Given the description of an element on the screen output the (x, y) to click on. 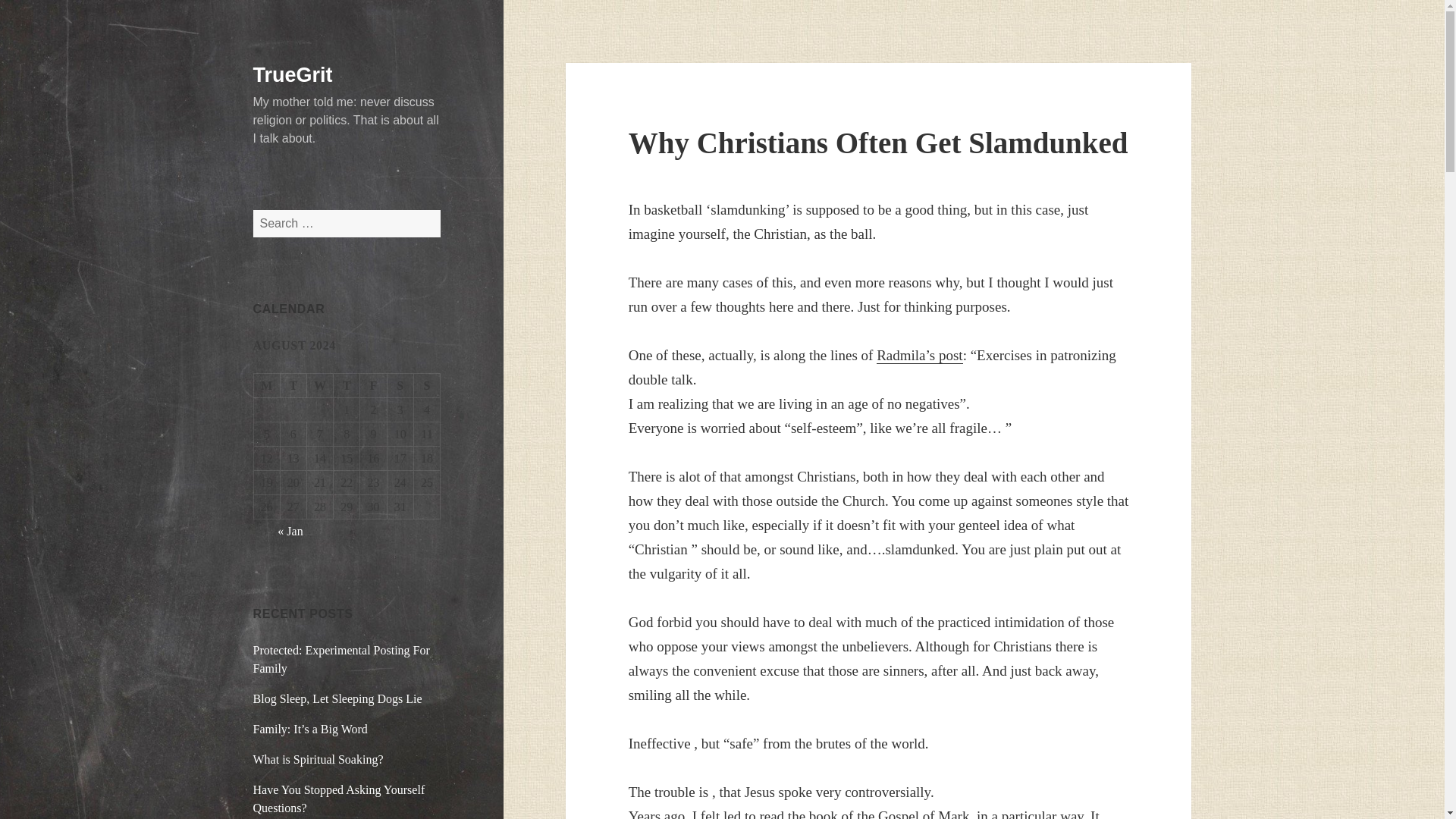
Thursday (346, 385)
Blog Sleep, Let Sleeping Dogs Lie (337, 698)
Protected: Experimental Posting For Family (341, 658)
TrueGrit (293, 74)
Monday (267, 385)
Saturday (400, 385)
Friday (373, 385)
